Given the description of an element on the screen output the (x, y) to click on. 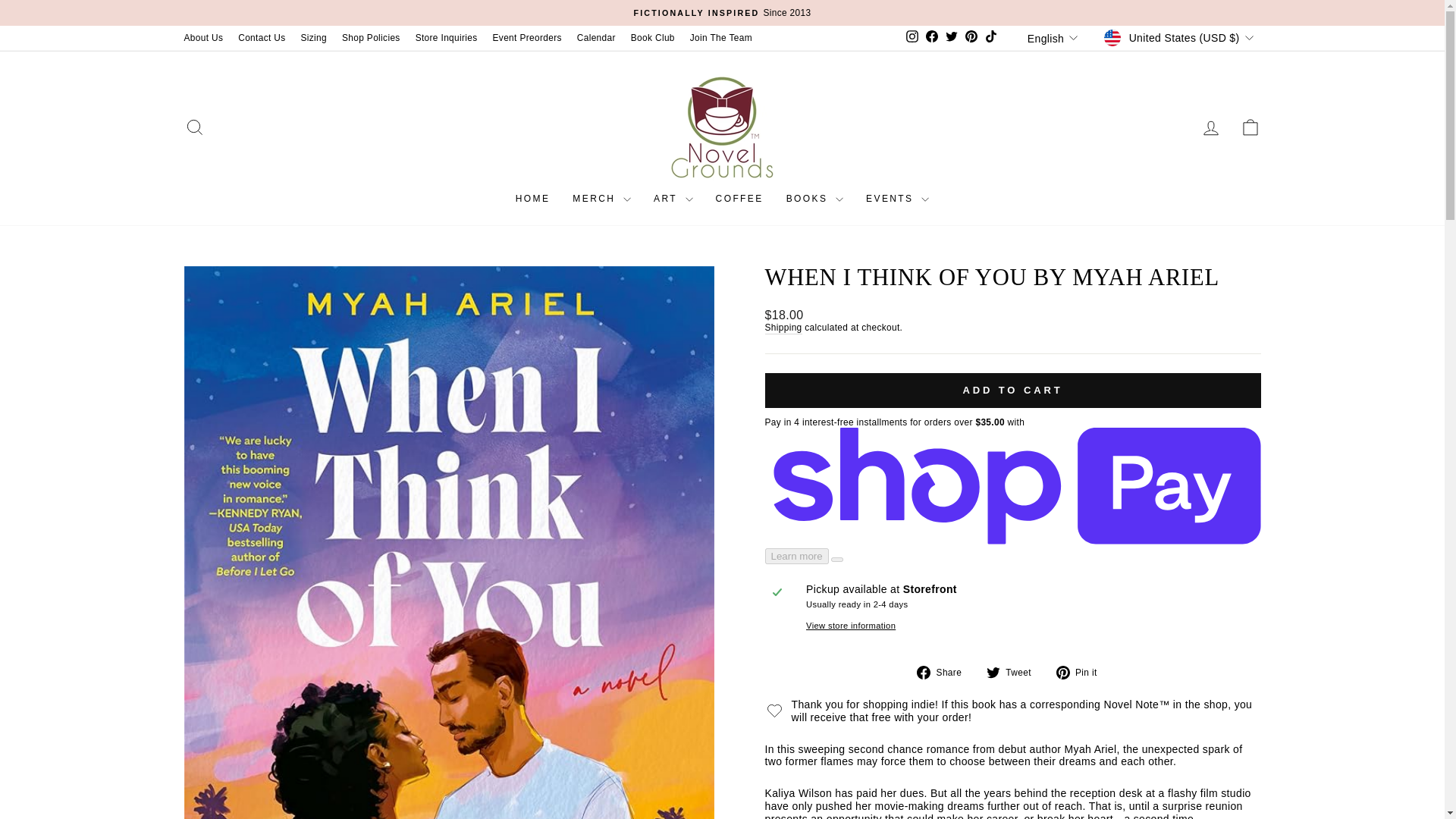
Tweet on Twitter (1014, 672)
Novel Grounds on Pinterest (970, 37)
Novel Grounds on Facebook (931, 37)
Novel Grounds on Twitter (951, 37)
Novel Grounds on Instagram (911, 37)
ACCOUNT (1210, 127)
twitter (993, 672)
Share on Facebook (944, 672)
Novel Grounds on TikTok (991, 37)
Pin on Pinterest (1082, 672)
